Given the description of an element on the screen output the (x, y) to click on. 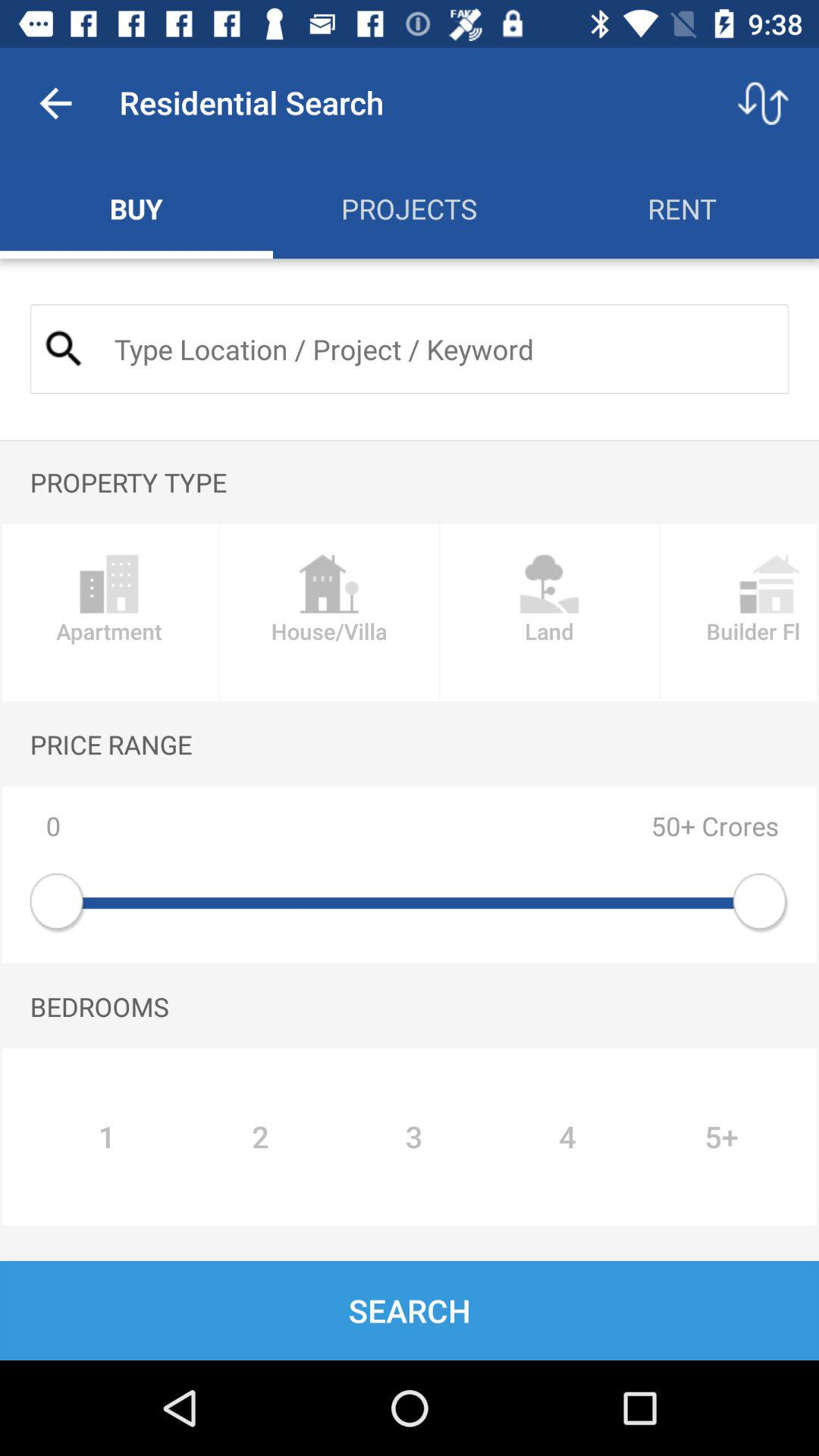
click item below the property type icon (329, 612)
